Given the description of an element on the screen output the (x, y) to click on. 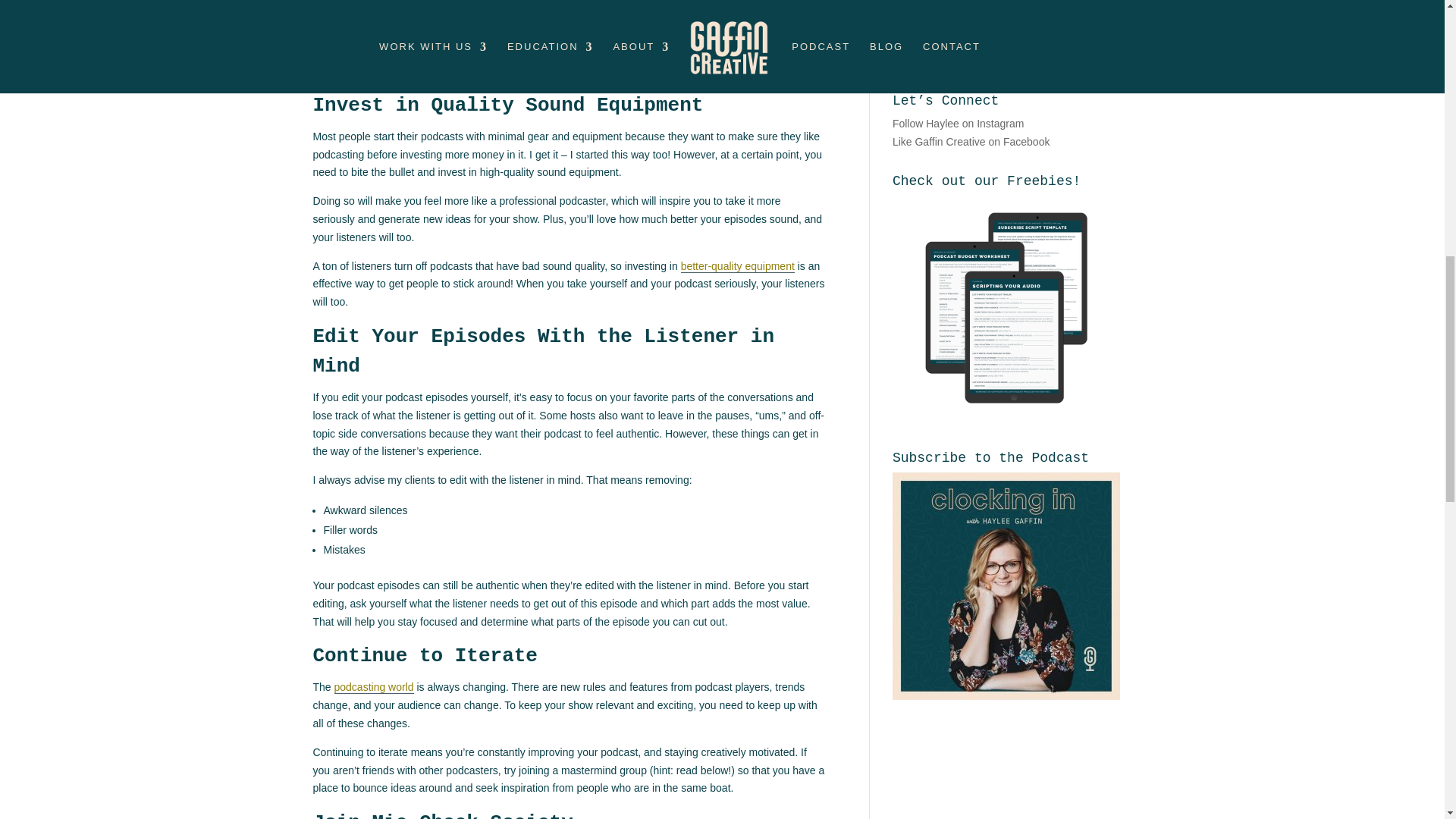
Like Gaffin Creative on Facebook (970, 141)
Follow Haylee on Instagram (958, 123)
mini podcast audit challenge (605, 51)
better-quality equipment (737, 266)
podcasting world (373, 686)
Check out our Freebies! (1005, 309)
